Given the description of an element on the screen output the (x, y) to click on. 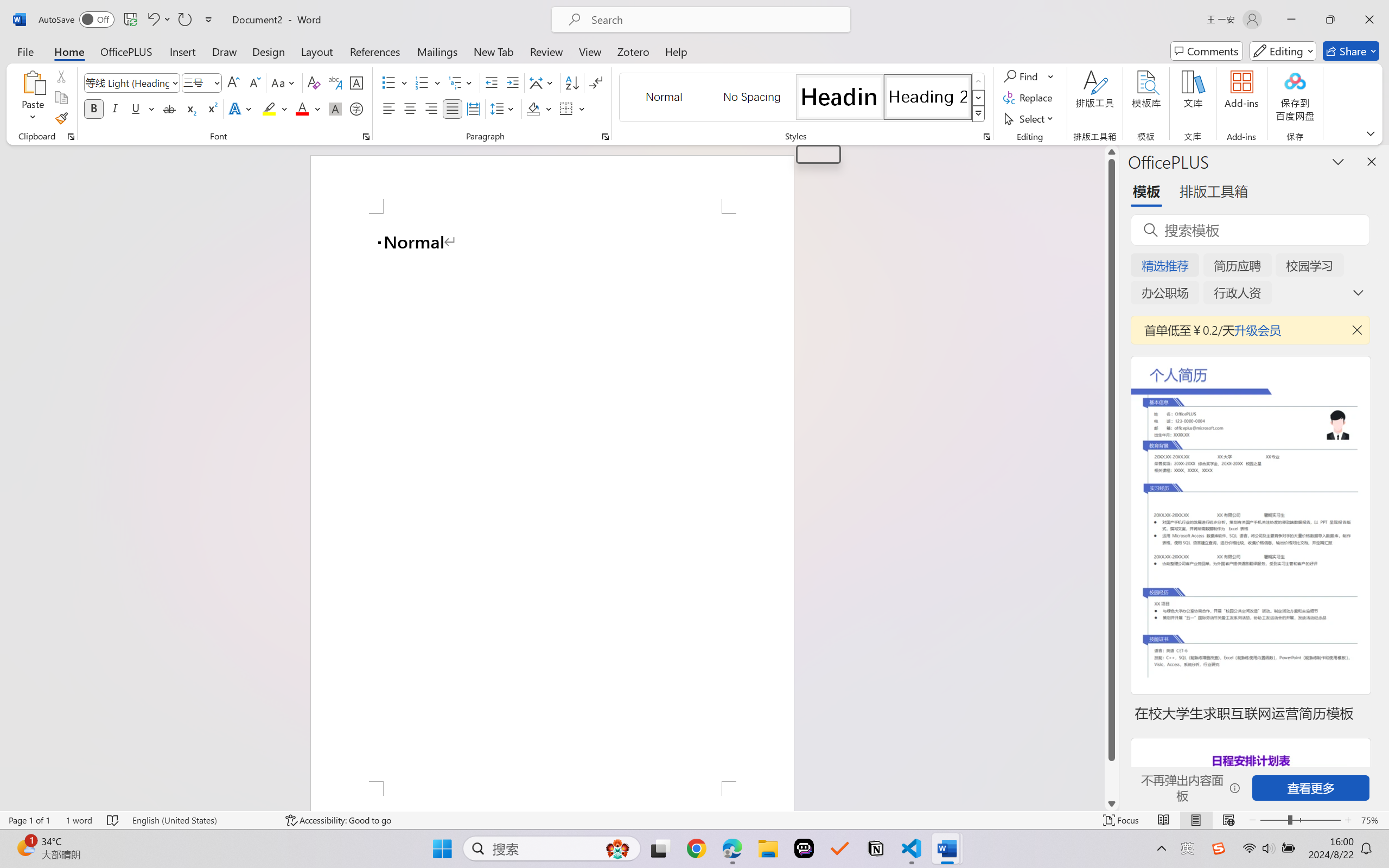
Format Painter (60, 118)
AutomationID: QuickStylesGallery (802, 97)
Task Pane Options (1338, 161)
Save (130, 19)
Styles... (986, 136)
Zoom In (1348, 819)
Insert (182, 51)
Zotero (632, 51)
Ribbon Display Options (1370, 132)
Page down (1111, 778)
Shading (539, 108)
Focus  (1121, 819)
Text Highlight Color Yellow (269, 108)
